Given the description of an element on the screen output the (x, y) to click on. 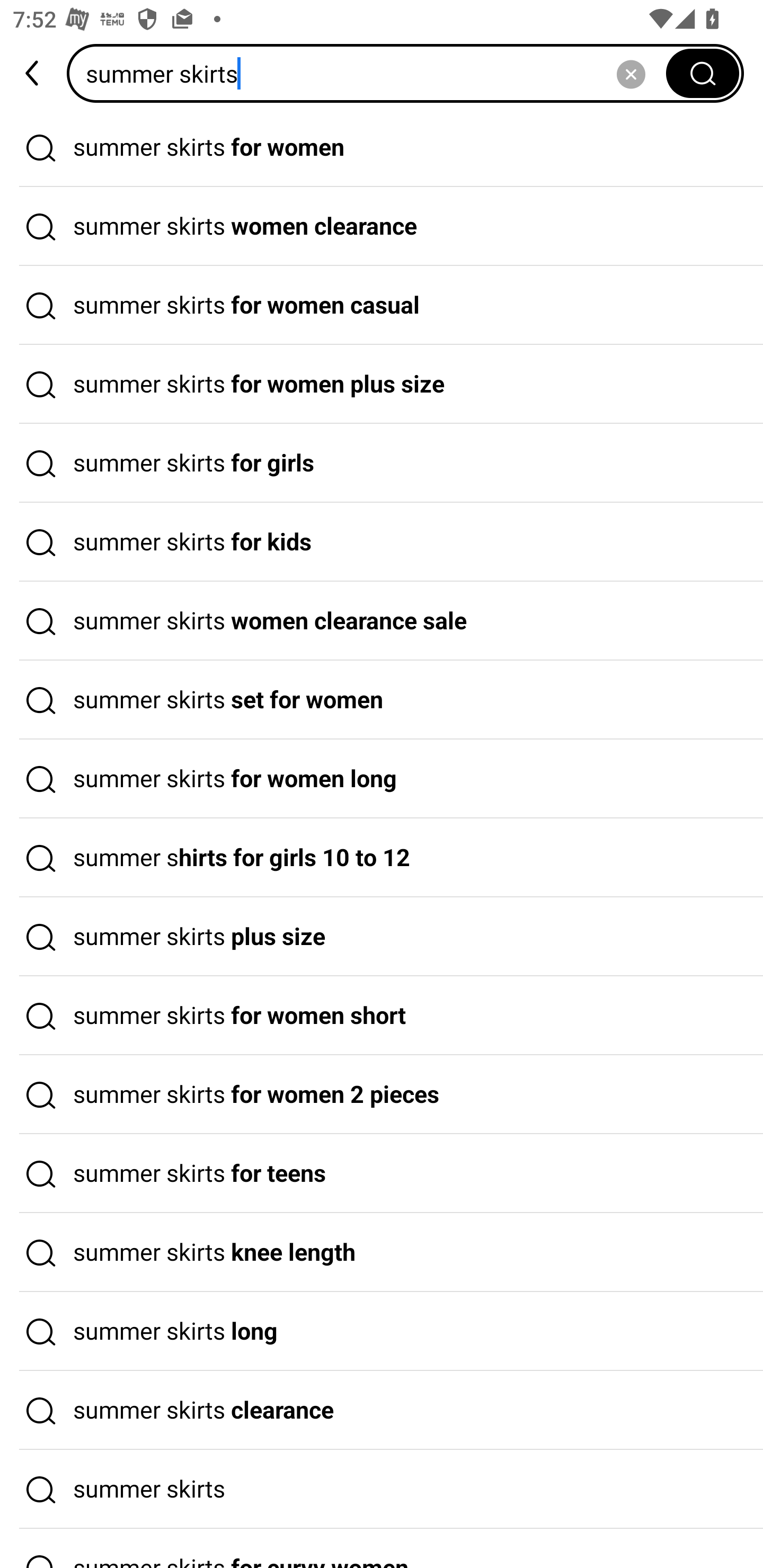
back (33, 72)
summer skirts (372, 73)
Delete search history (630, 73)
summer skirts for women (381, 147)
summer skirts women clearance (381, 226)
summer skirts for women casual (381, 305)
summer skirts for women plus size (381, 383)
summer skirts for girls (381, 463)
summer skirts for kids (381, 542)
summer skirts women clearance sale (381, 620)
summer skirts set for women (381, 700)
summer skirts for women long (381, 779)
summer shirts for girls 10 to 12 (381, 857)
summer skirts plus size (381, 936)
summer skirts for women short (381, 1015)
summer skirts for women 2 pieces (381, 1094)
summer skirts for teens (381, 1173)
summer skirts knee length (381, 1252)
summer skirts long (381, 1331)
summer skirts clearance (381, 1410)
summer skirts (381, 1489)
